Given the description of an element on the screen output the (x, y) to click on. 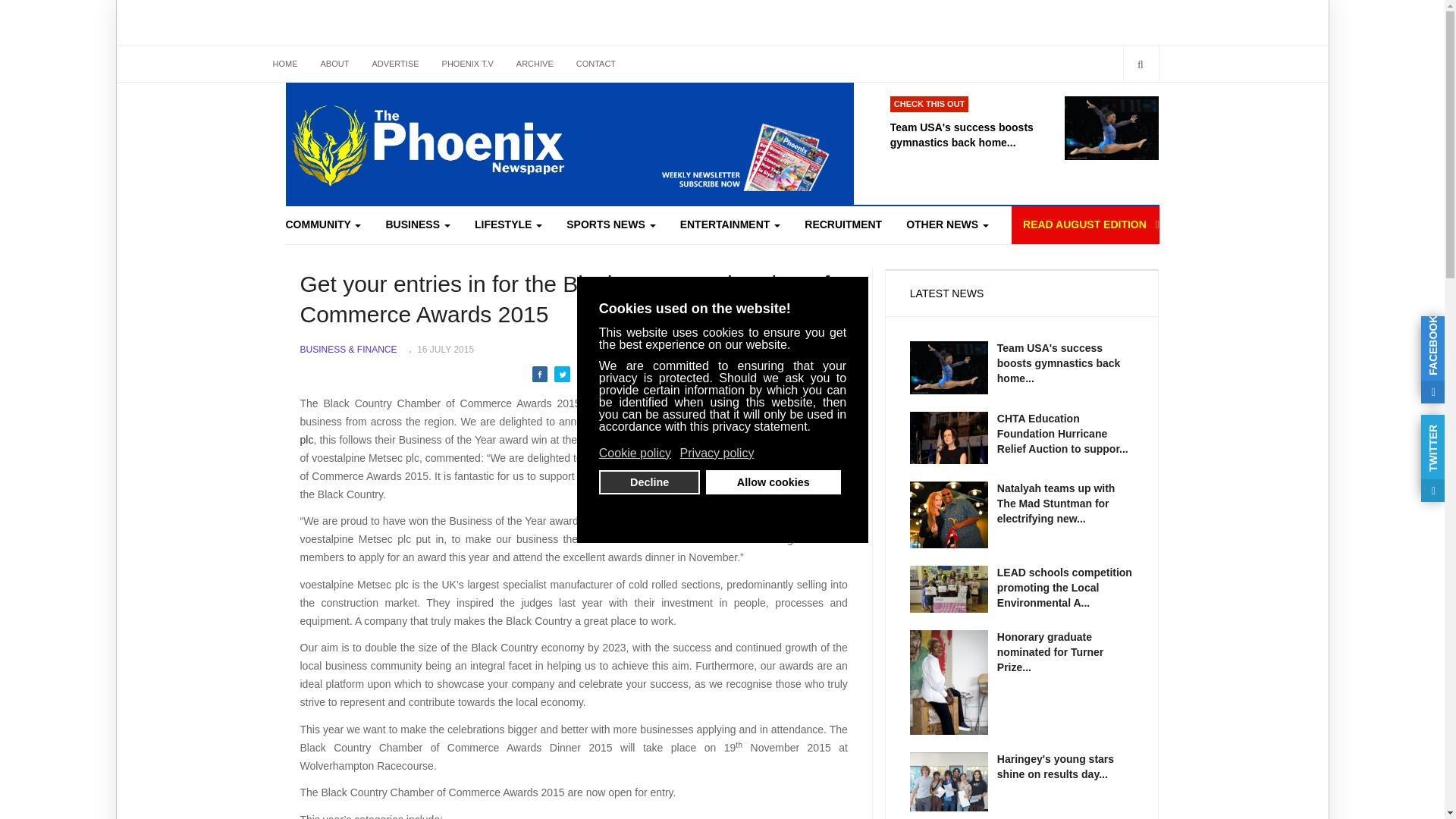
Cookie policy (635, 452)
CONTACT (595, 63)
ABOUT (334, 63)
Team USA's success boosts gymnastics back home... (977, 123)
HOME (284, 63)
Subscribe to newsletter (718, 147)
ARCHIVE (534, 63)
Privacy policy (717, 452)
Decline (649, 482)
